Given the description of an element on the screen output the (x, y) to click on. 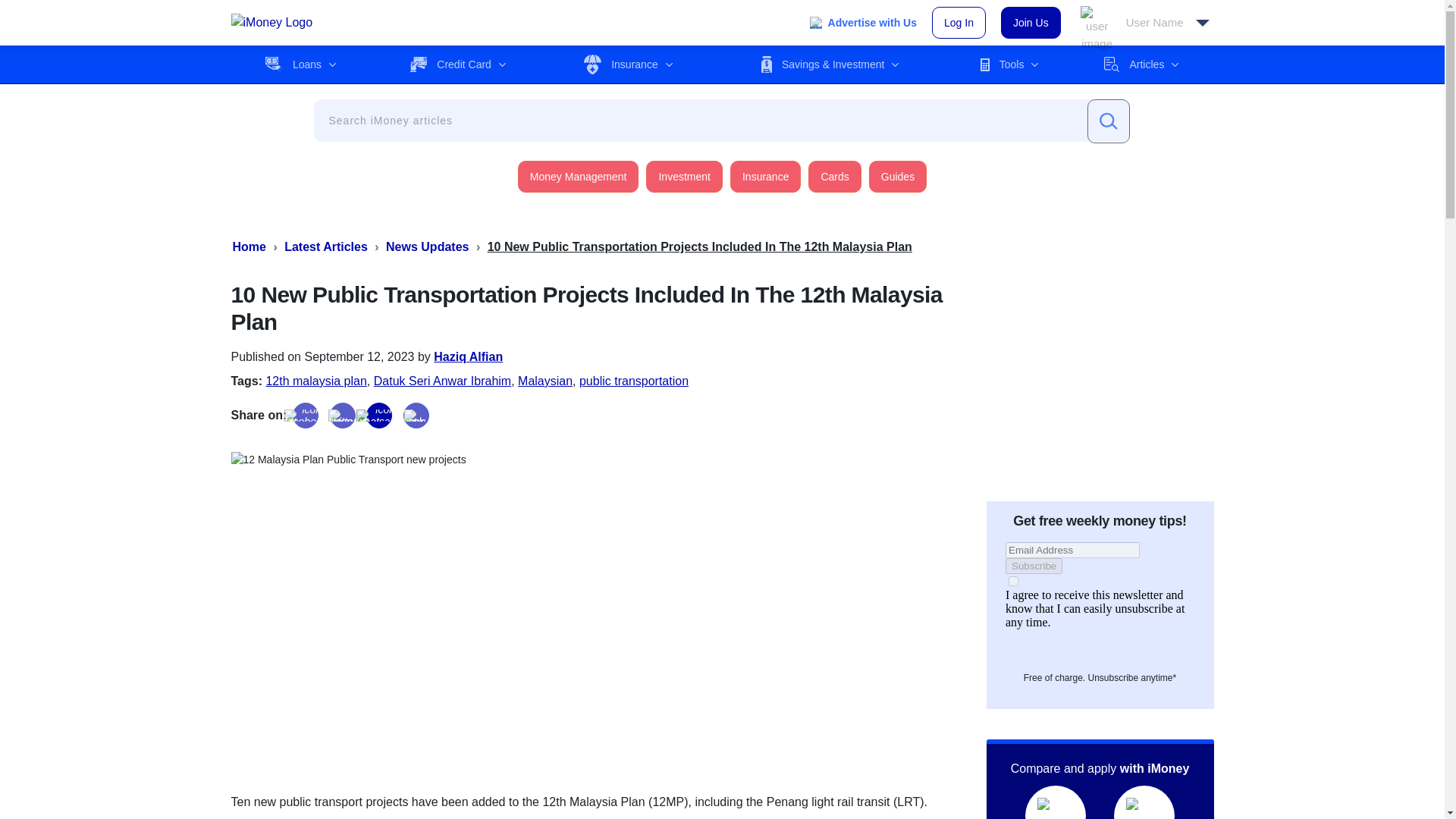
Log In (958, 22)
Posts by Haziq Alfian (467, 356)
Copy Link (416, 415)
Join Us (1031, 22)
Search (1108, 121)
Whatsapp (378, 415)
Advertise with Us (863, 23)
iMoney (271, 22)
Loans (299, 64)
Facebook (305, 415)
